Given the description of an element on the screen output the (x, y) to click on. 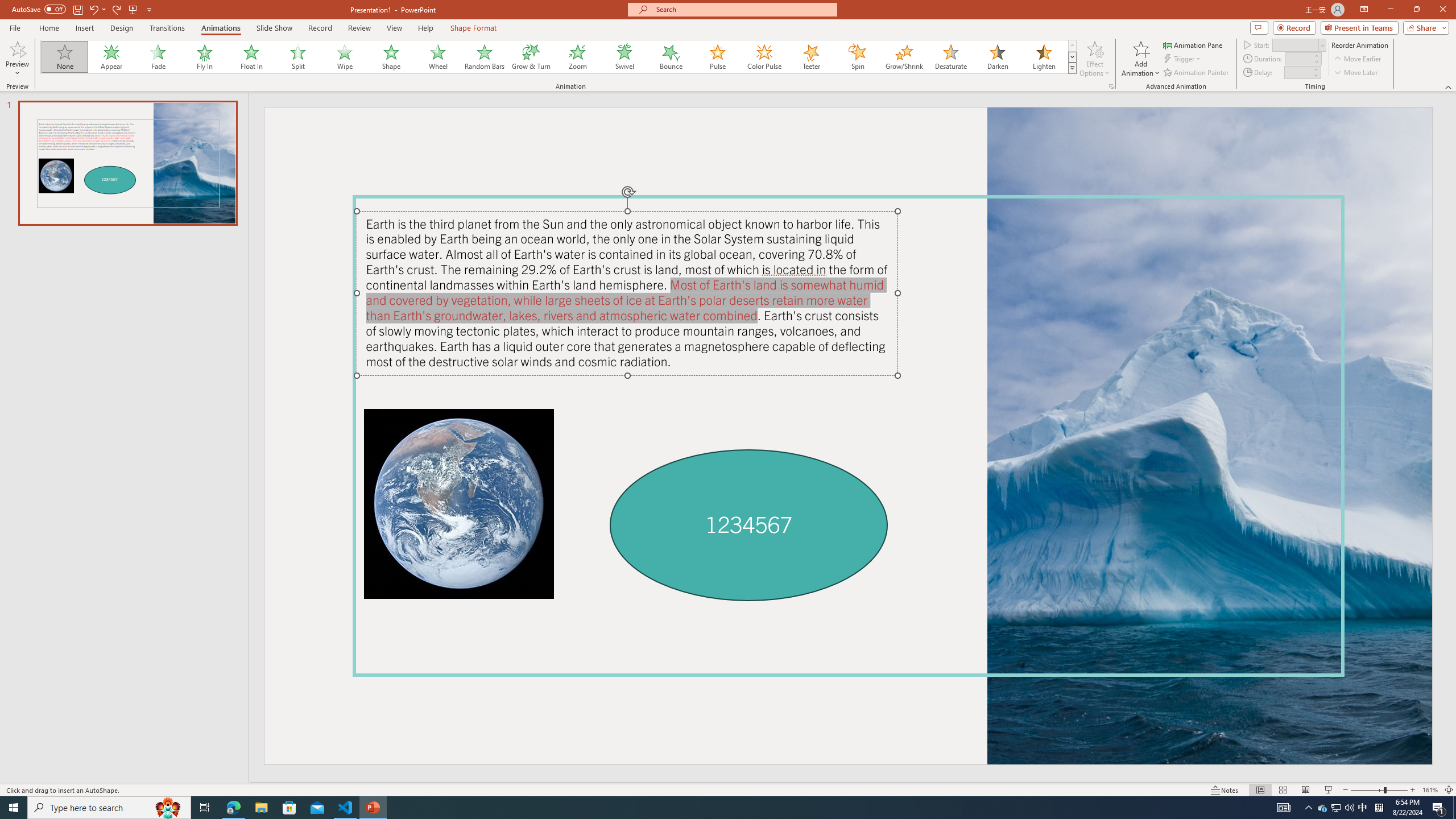
Zoom 161% (1430, 790)
